Given the description of an element on the screen output the (x, y) to click on. 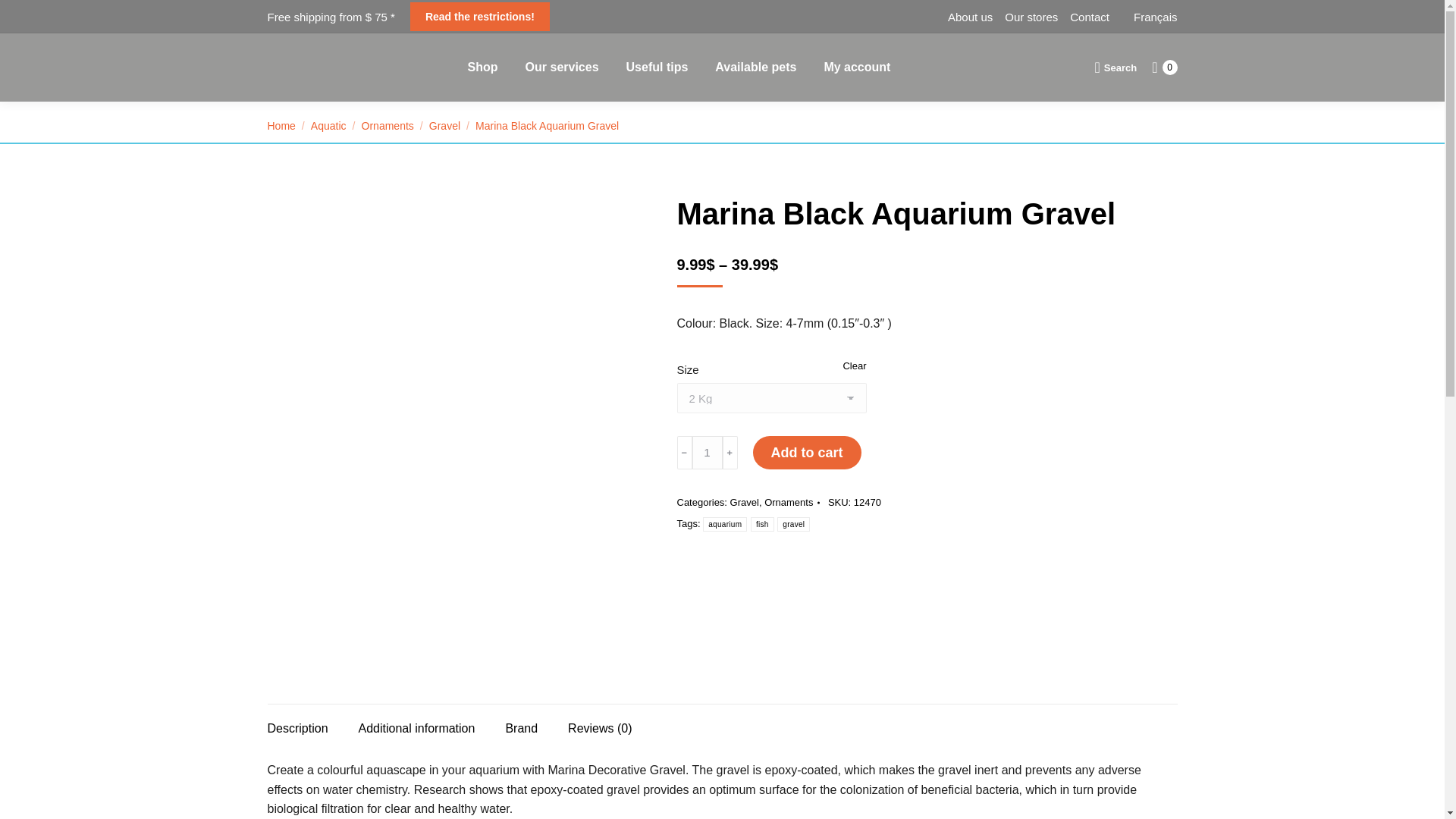
Gravel (444, 125)
1 (706, 452)
Ornaments (387, 125)
Home (280, 125)
Read the restrictions! (480, 16)
About us (969, 17)
Aquatic (328, 125)
Contact (1089, 17)
Shop (482, 66)
Our stores (1031, 17)
